Given the description of an element on the screen output the (x, y) to click on. 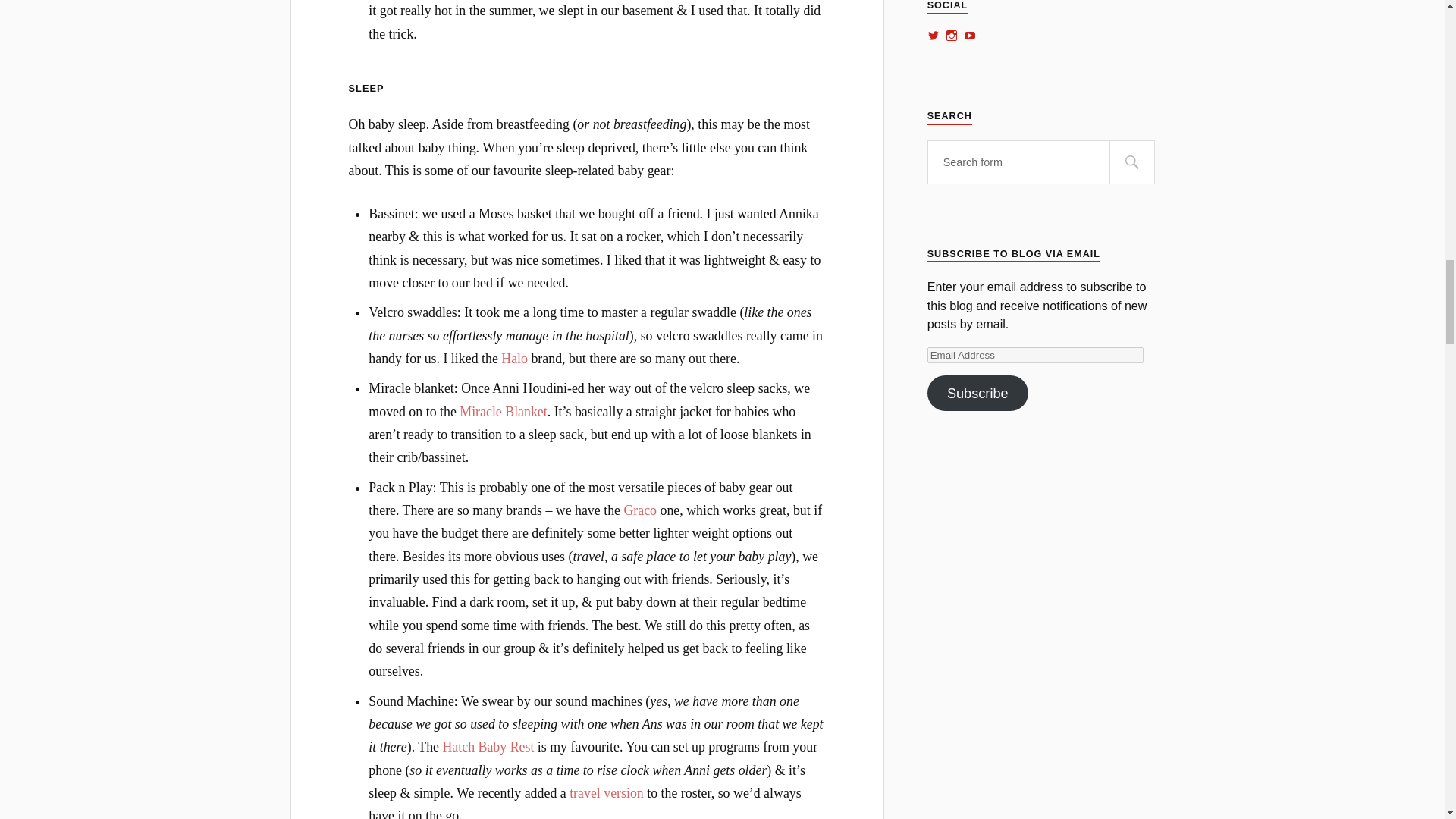
Graco (639, 509)
Halo (515, 358)
travel version (606, 792)
Hatch Baby Rest (488, 746)
Miracle Blanket (503, 411)
